Given the description of an element on the screen output the (x, y) to click on. 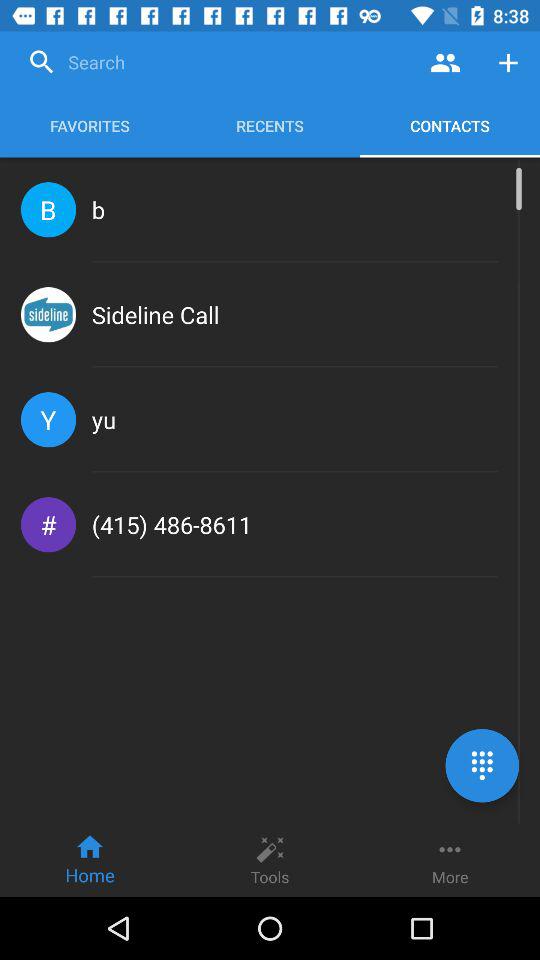
open the item to the left of the sideline call (48, 314)
